Given the description of an element on the screen output the (x, y) to click on. 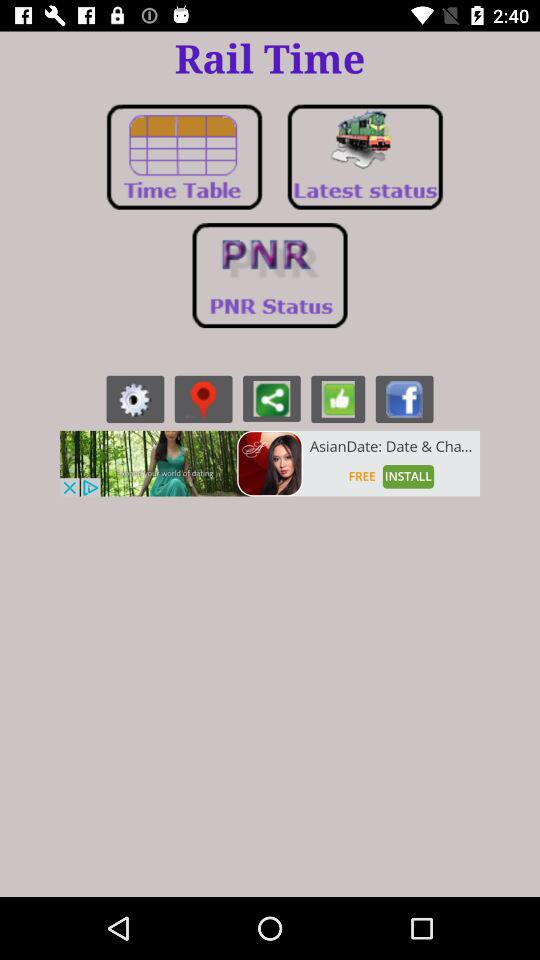
advertisement to install app (270, 463)
